Given the description of an element on the screen output the (x, y) to click on. 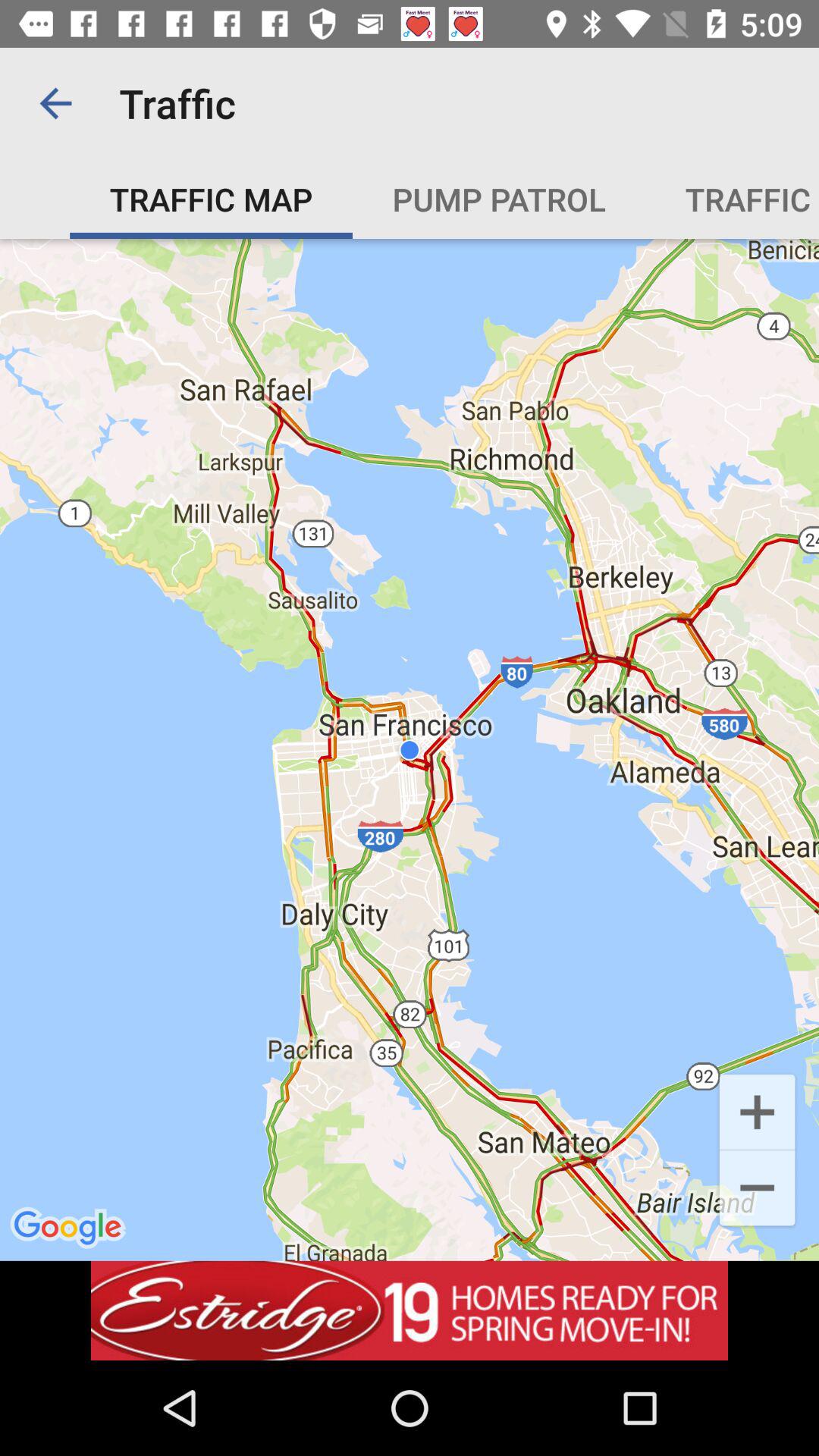
advertisement (409, 1310)
